Given the description of an element on the screen output the (x, y) to click on. 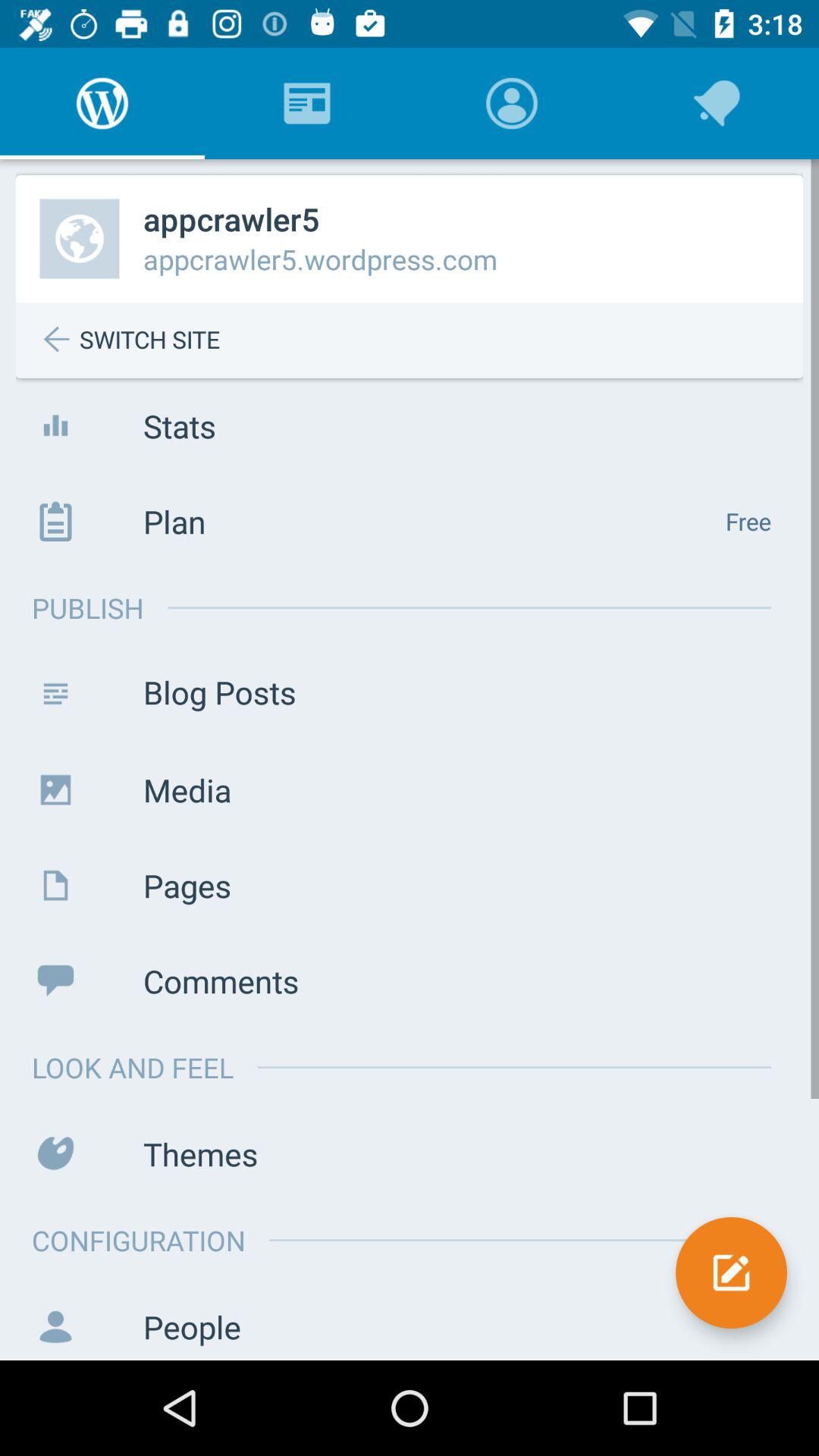
turn off icon at the bottom right corner (731, 1272)
